Given the description of an element on the screen output the (x, y) to click on. 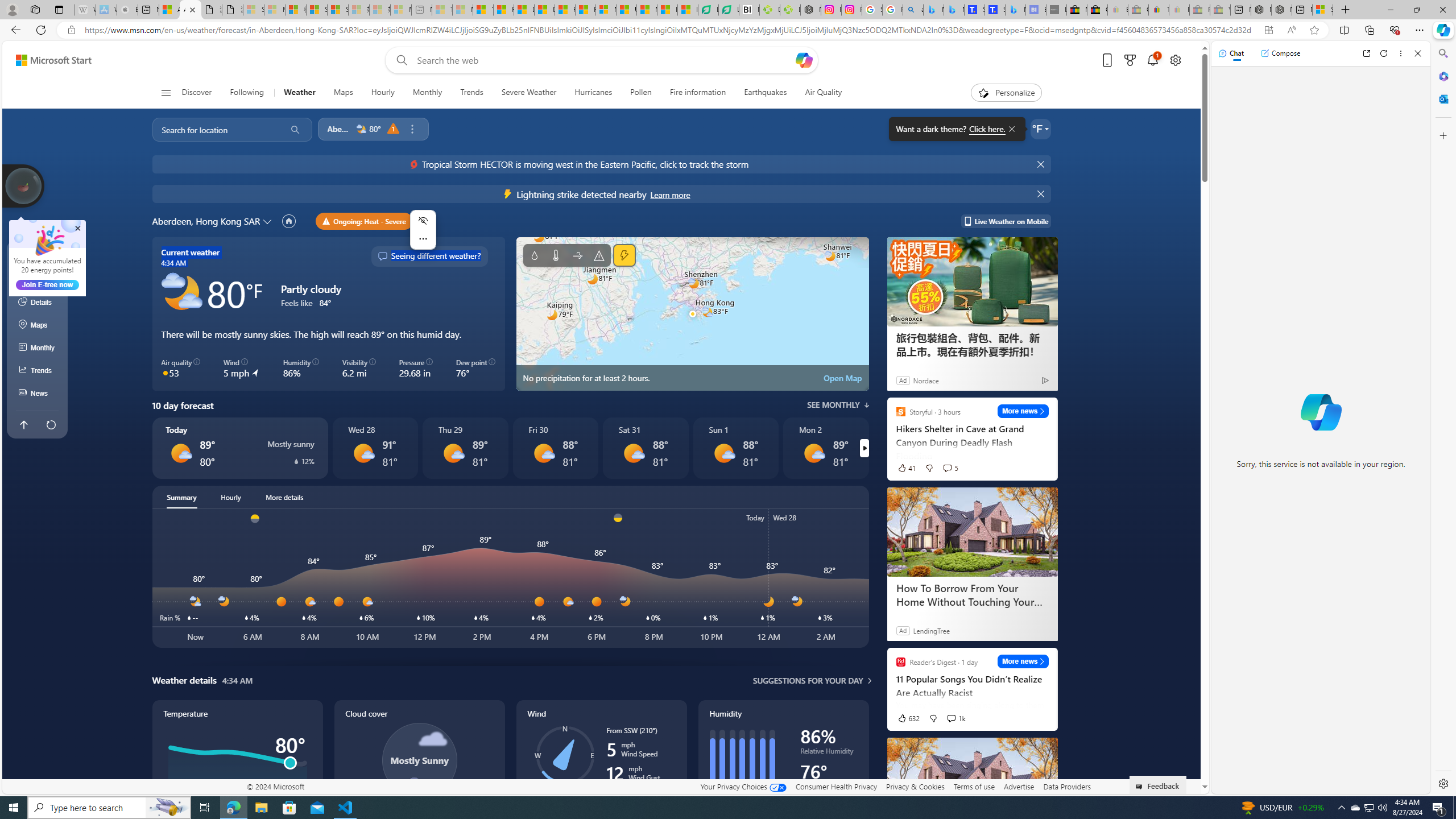
LendingTree - Compare Lenders (728, 9)
Mostly sunny (813, 453)
Fire information (697, 92)
More actions (422, 239)
Microsoft Bing Travel - Shangri-La Hotel Bangkok (1015, 9)
